Given the description of an element on the screen output the (x, y) to click on. 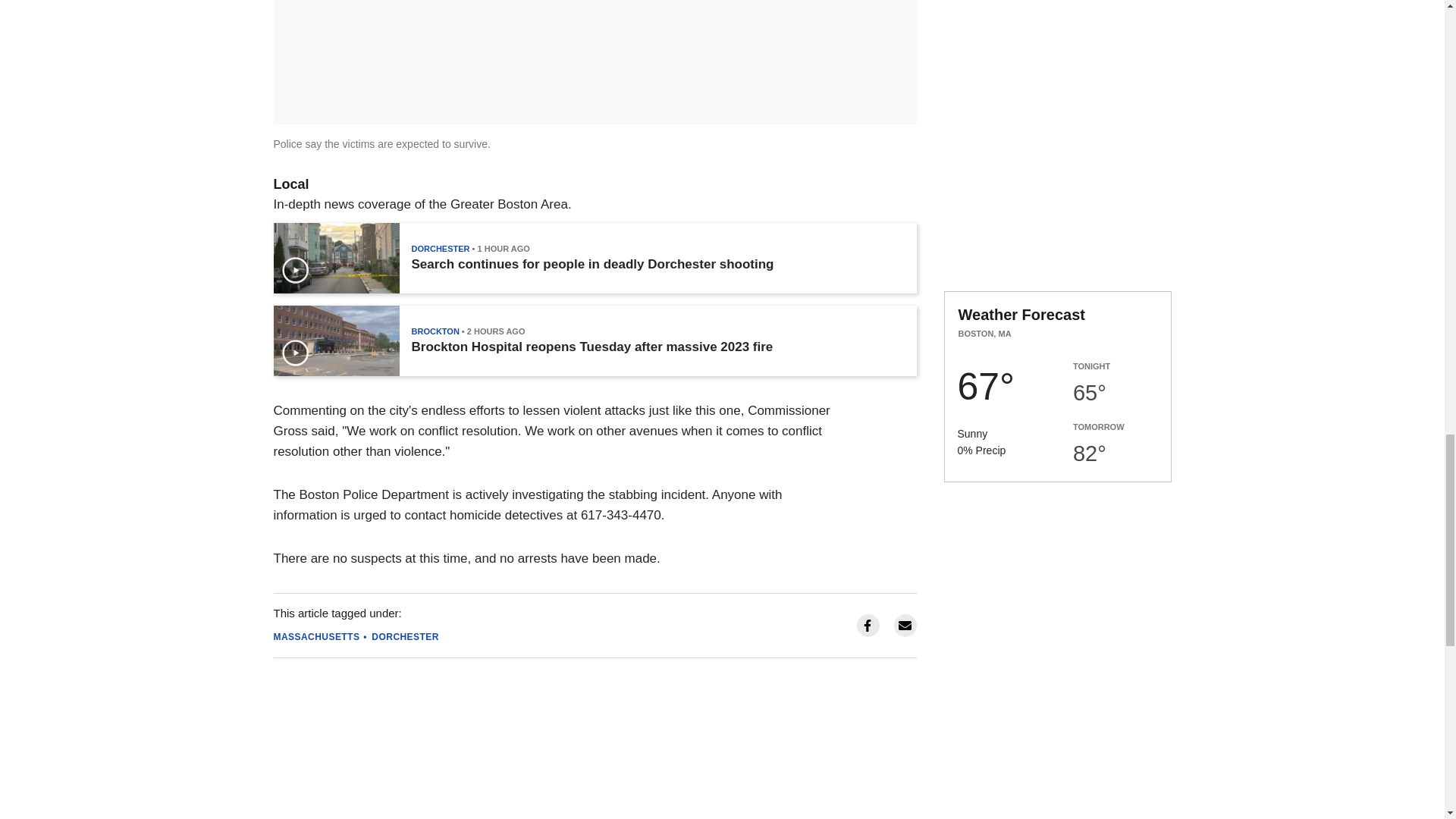
DORCHESTER (405, 636)
Search continues for people in deadly Dorchester shooting (591, 264)
3rd party ad content (1056, 5)
MASSACHUSETTS (316, 636)
DORCHESTER (439, 248)
BROCKTON (434, 330)
Brockton Hospital reopens Tuesday after massive 2023 fire (591, 346)
